Given the description of an element on the screen output the (x, y) to click on. 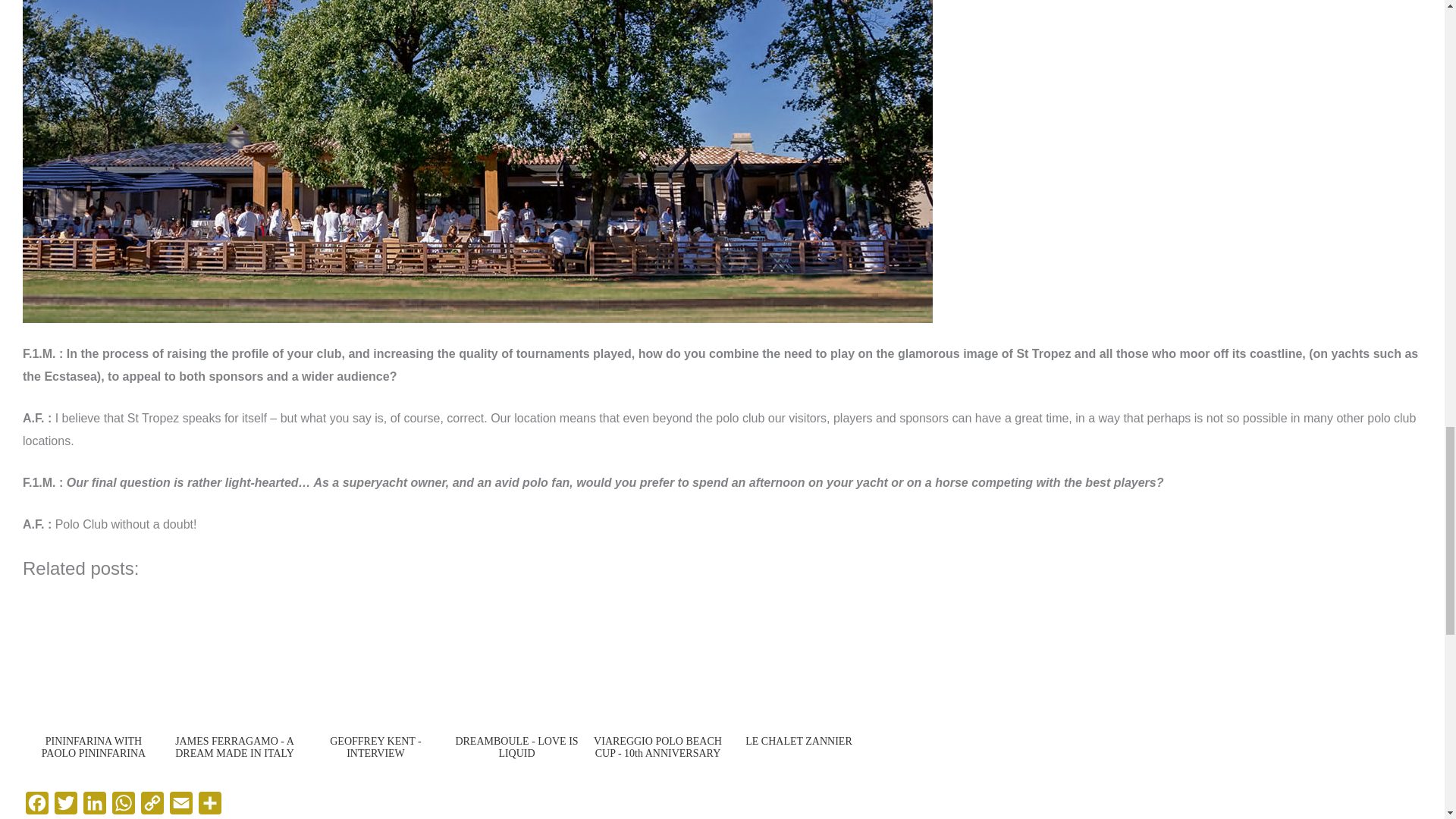
Twitter (65, 805)
Email (181, 805)
WhatsApp (123, 805)
Copy Link (152, 805)
LinkedIn (94, 805)
LinkedIn (94, 805)
Facebook (36, 805)
Facebook (36, 805)
WhatsApp (123, 805)
Copy Link (152, 805)
